Given the description of an element on the screen output the (x, y) to click on. 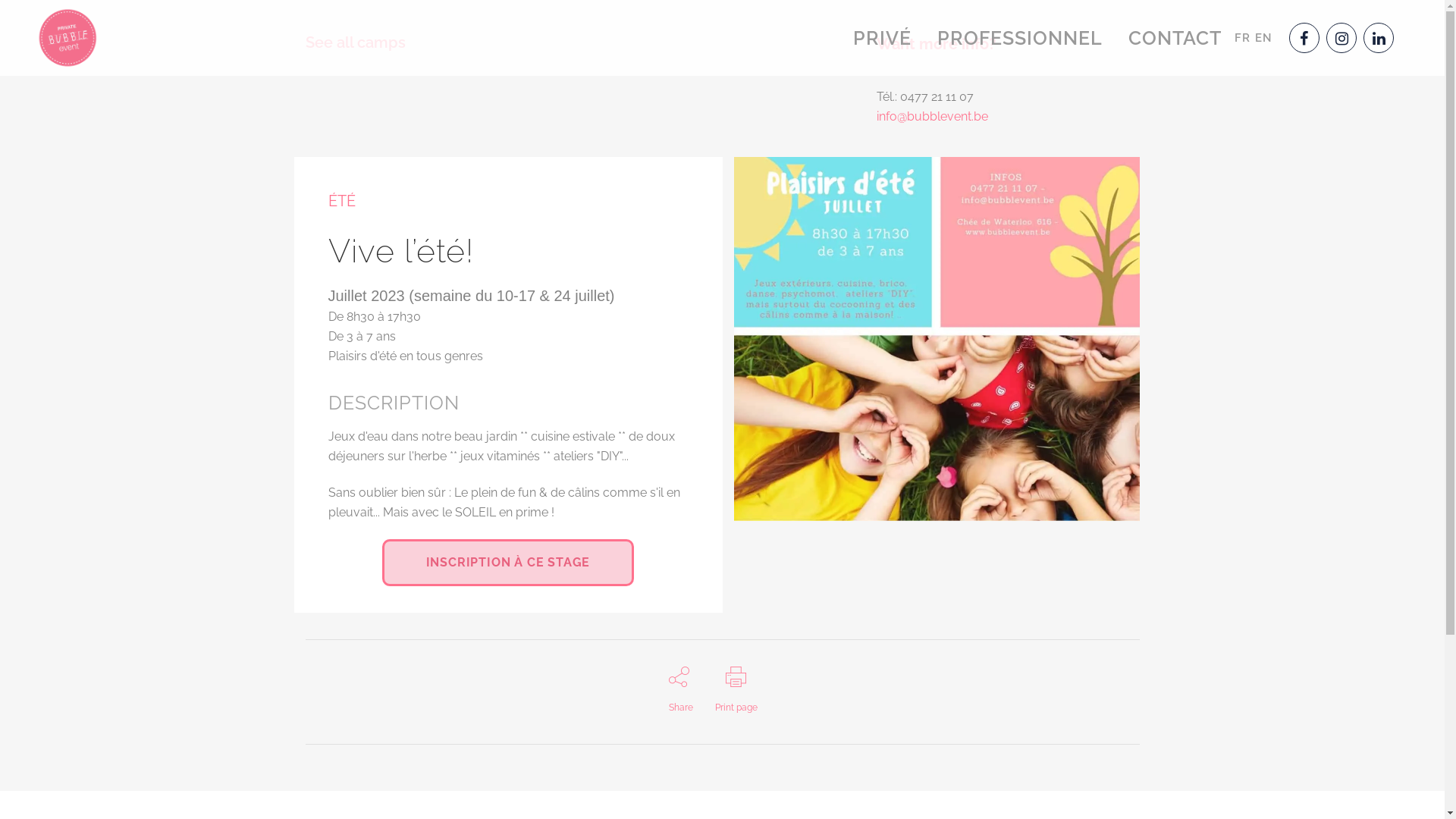
EN Element type: text (1263, 37)
info@bubblevent.be Element type: text (932, 116)
Print page Element type: text (735, 689)
FR Element type: text (1242, 37)
Share Element type: text (680, 689)
See all camps Element type: text (354, 42)
PROFESSIONNEL Element type: text (1019, 37)
CONTACT Element type: text (1174, 37)
